Given the description of an element on the screen output the (x, y) to click on. 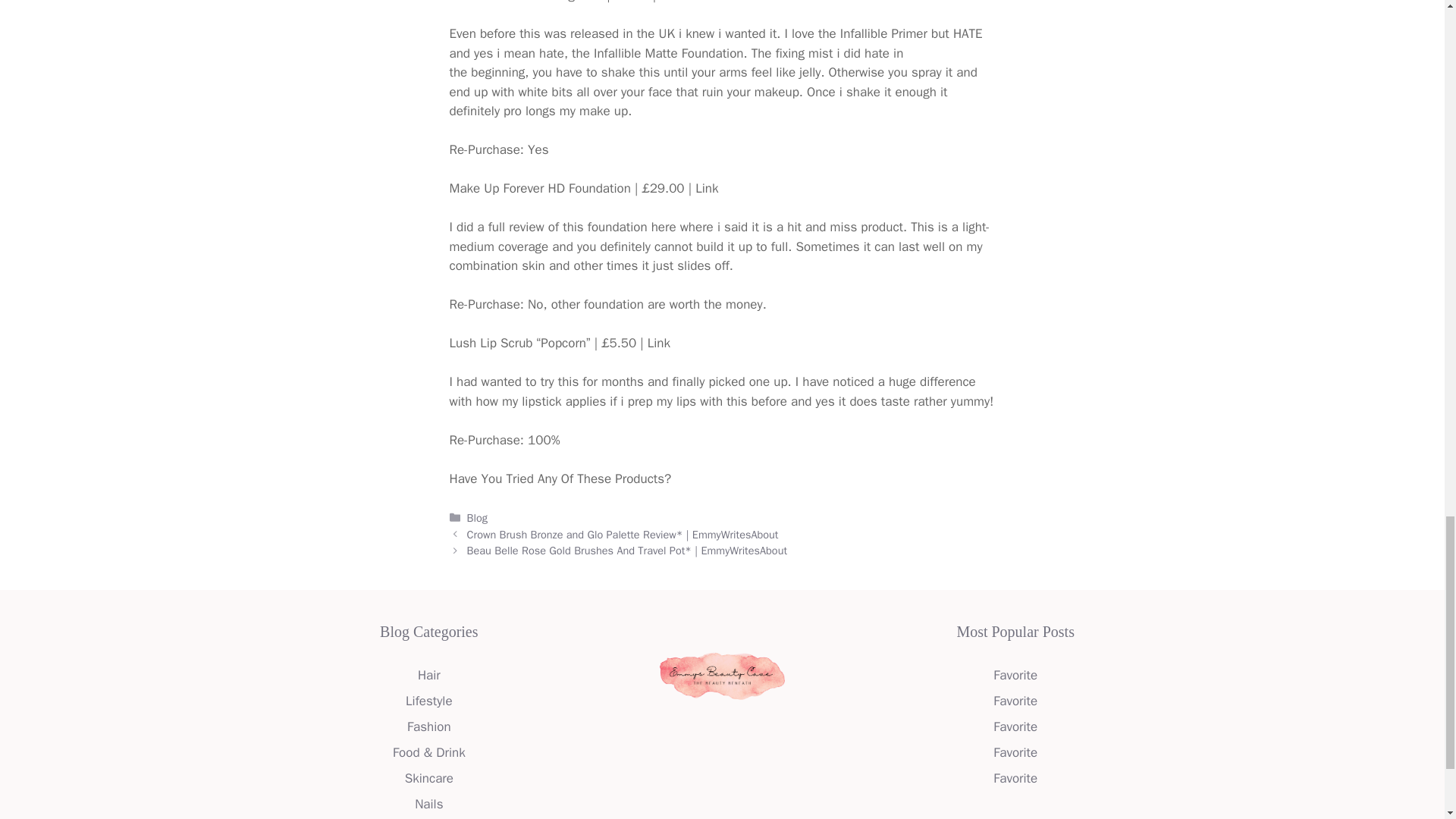
Skincare (428, 778)
Blog (477, 517)
Lifestyle (428, 700)
Fashion (429, 726)
Hair (429, 675)
Nails (428, 804)
